Given the description of an element on the screen output the (x, y) to click on. 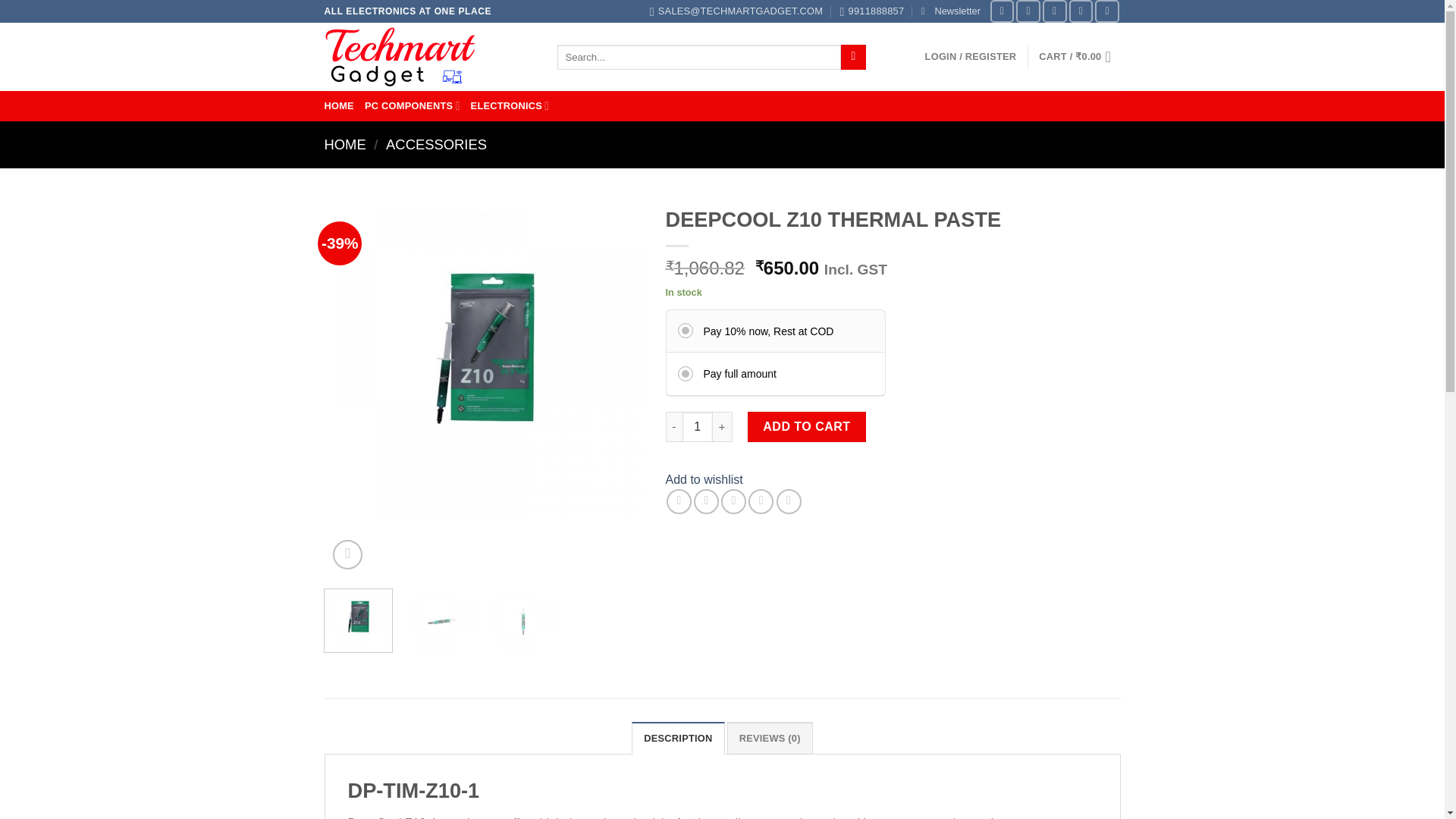
Send us an email (1080, 11)
ELECTRONICS (510, 105)
dp-tim-z10-1-5-1000x1000-1.jpg (483, 357)
Sign up for Newsletter (950, 11)
Follow on Facebook (1002, 11)
Follow on Twitter (1054, 11)
Zoom (347, 554)
9911888857 (872, 11)
HOME (338, 105)
dp-tim-z10-1-3-1000x1000-1.jpg (164, 357)
Search (853, 57)
Techmart Gadget - The No1 Online Gadget Store (429, 56)
Cart (1079, 56)
PC COMPONENTS (412, 105)
Call us (1106, 11)
